Given the description of an element on the screen output the (x, y) to click on. 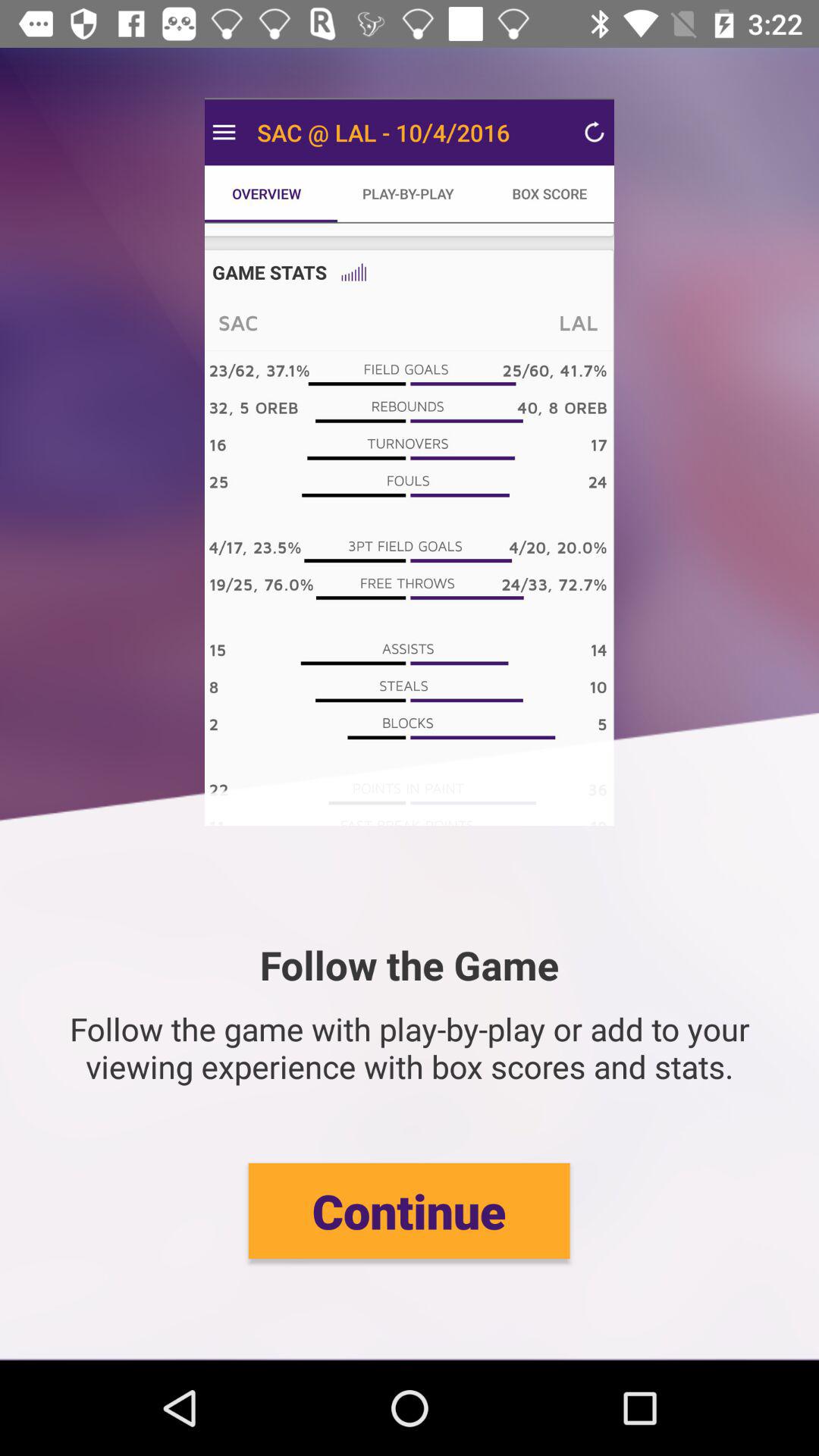
turn off the continue (408, 1210)
